Given the description of an element on the screen output the (x, y) to click on. 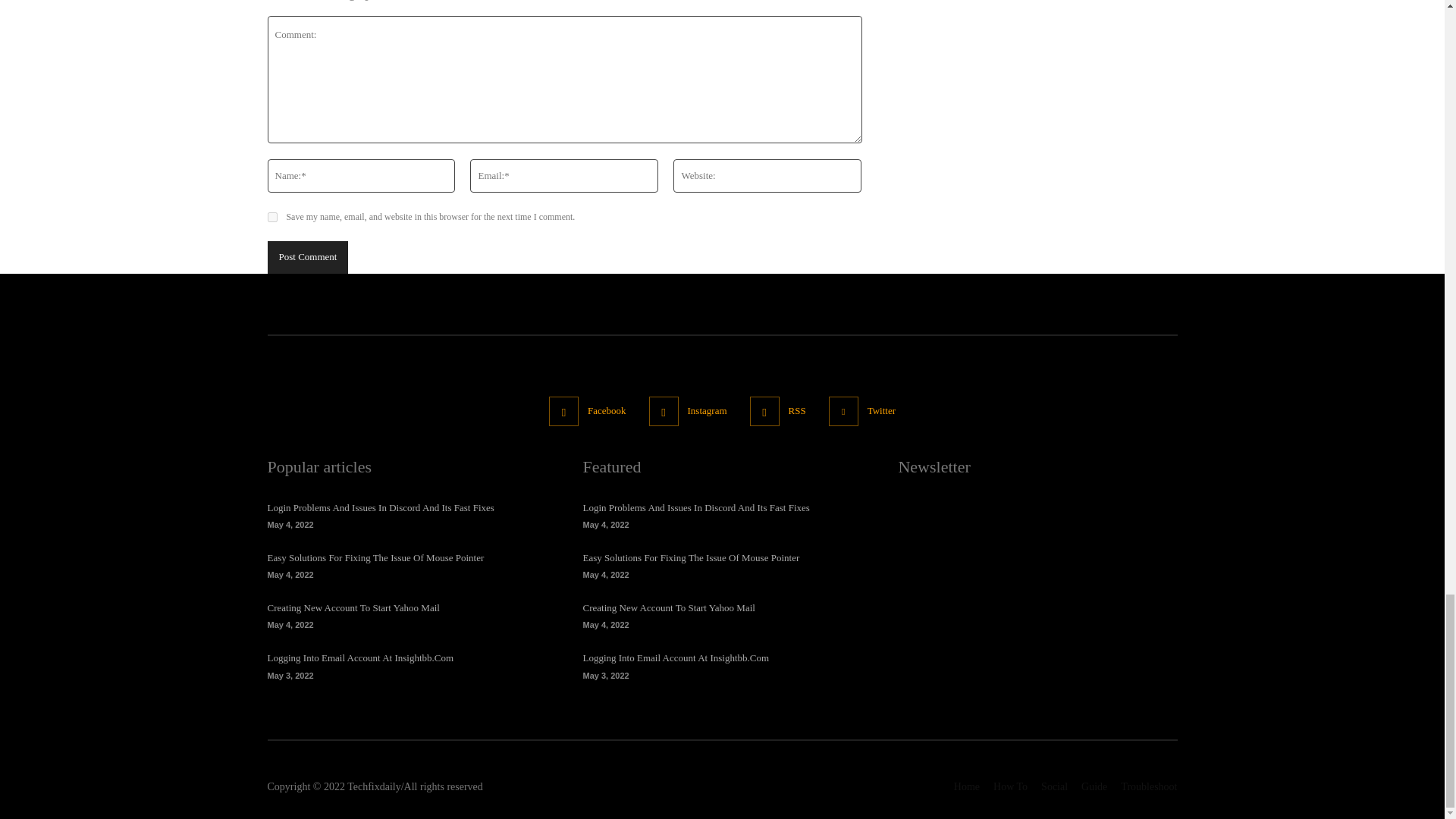
Post Comment (306, 256)
yes (271, 216)
